Given the description of an element on the screen output the (x, y) to click on. 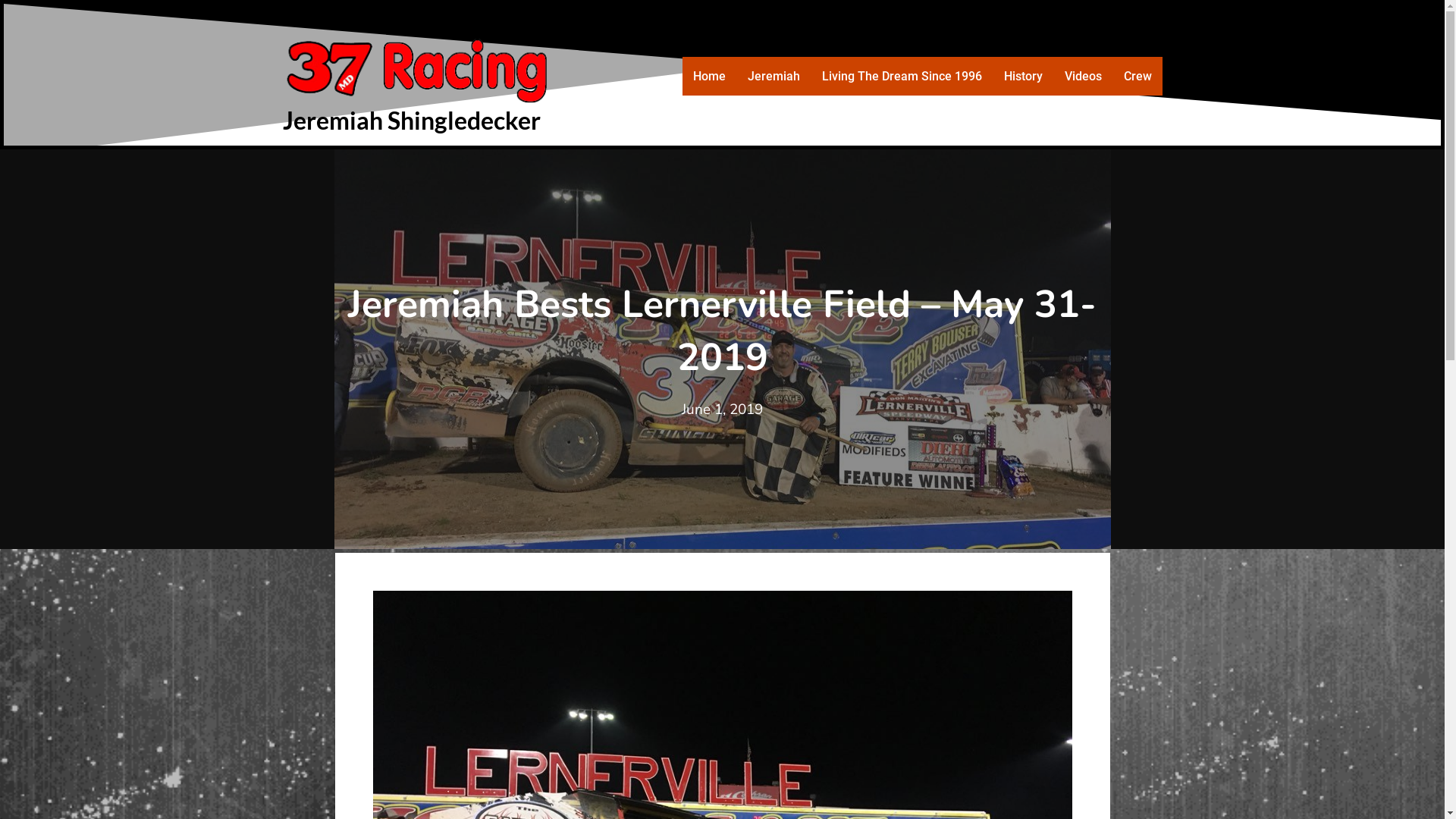
History Element type: text (1023, 75)
Jeremiah Shingledecker Element type: text (410, 119)
Videos Element type: text (1083, 75)
Jeremiah Element type: text (773, 75)
Living The Dream Since 1996 Element type: text (901, 75)
37md-home2 Element type: hover (426, 66)
Crew Element type: text (1137, 75)
Home Element type: text (709, 75)
